Given the description of an element on the screen output the (x, y) to click on. 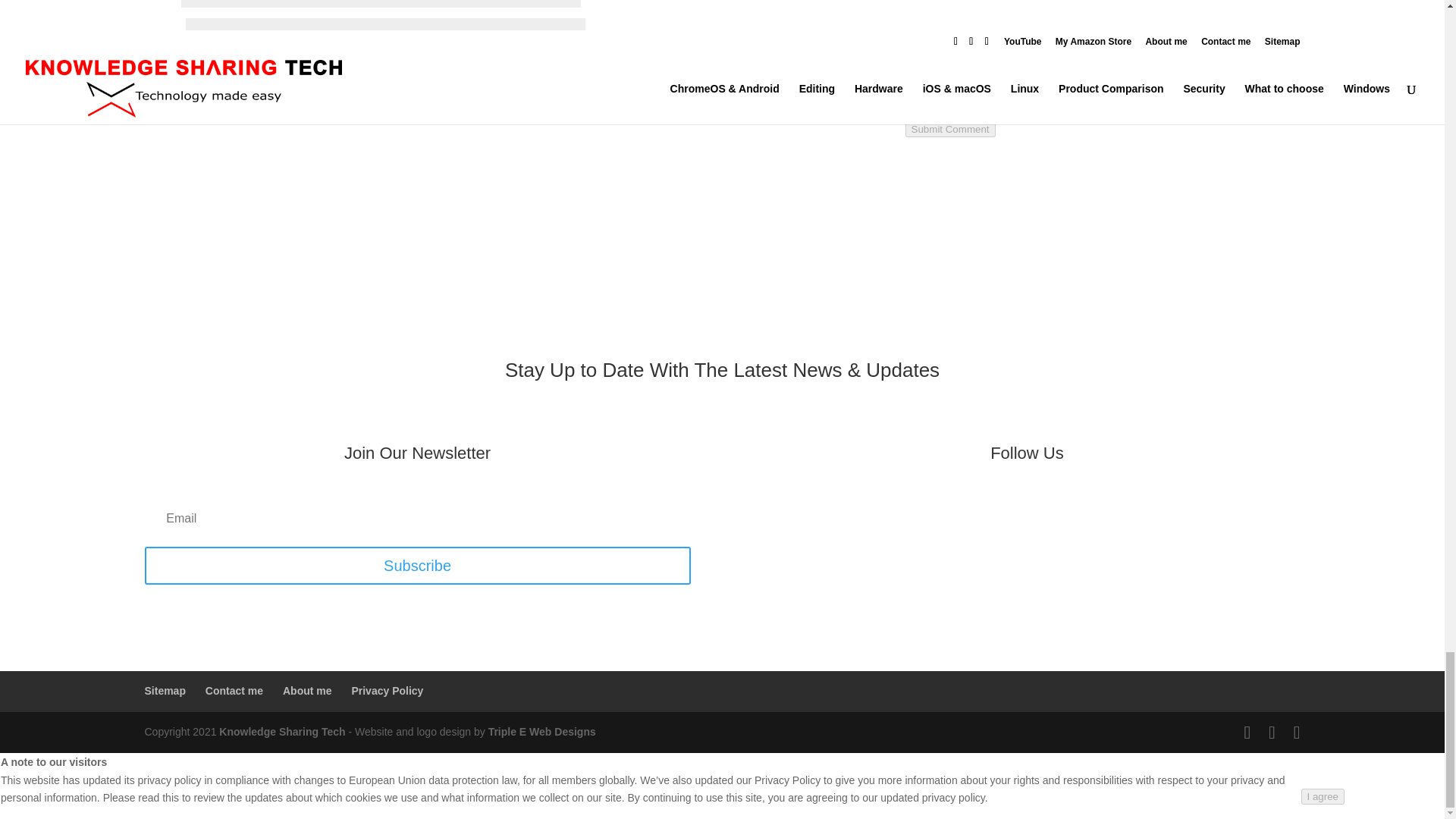
Follow on Youtube (980, 513)
Submit Comment (950, 129)
Knowledge Sharing Tech (282, 731)
1 (152, 99)
Follow on Instagram (1071, 513)
Follow on Facebook (1010, 513)
yes (152, 70)
Follow on X (1041, 513)
